Given the description of an element on the screen output the (x, y) to click on. 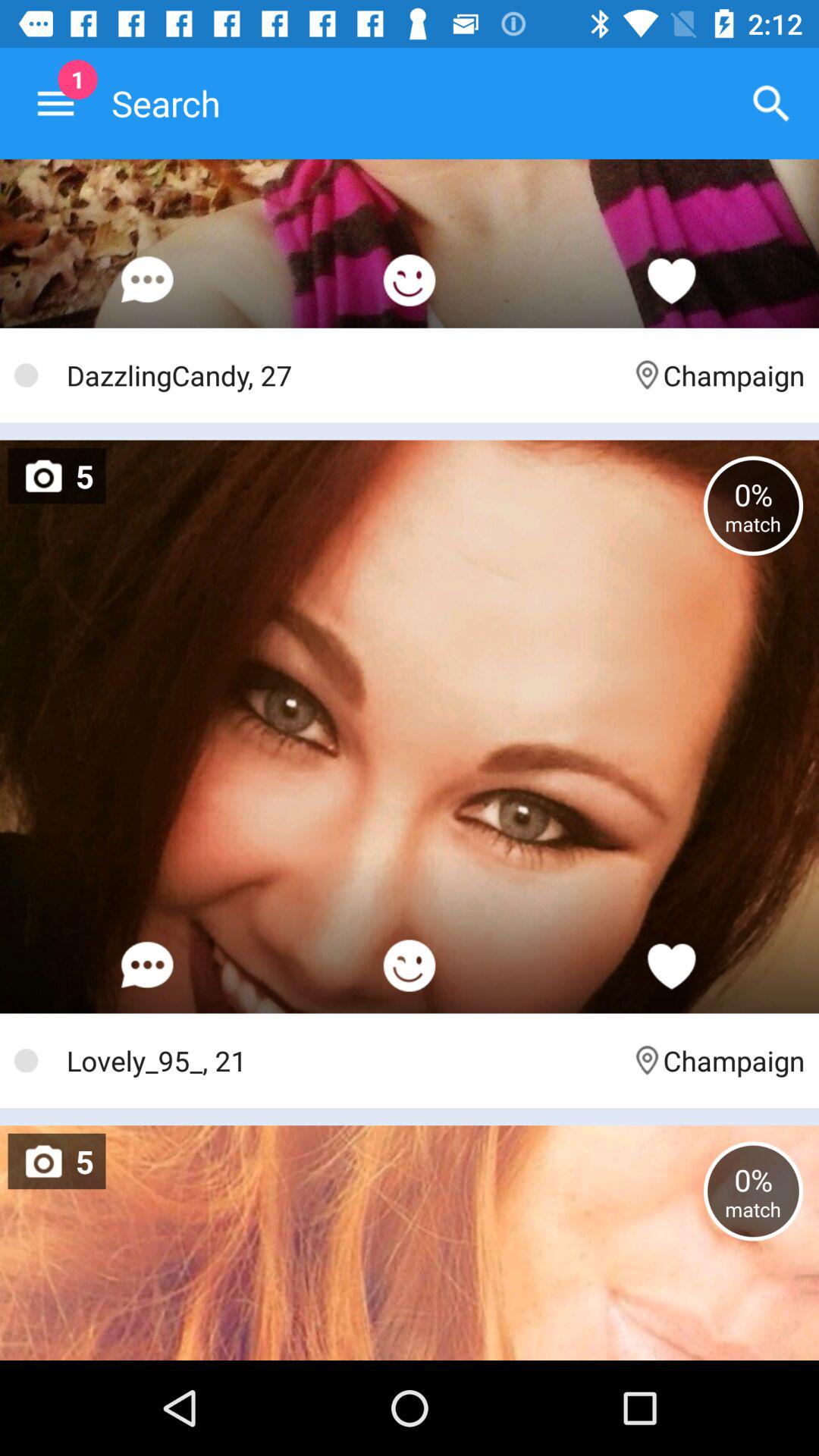
jump to the lovely_95_, 21 icon (341, 1060)
